Given the description of an element on the screen output the (x, y) to click on. 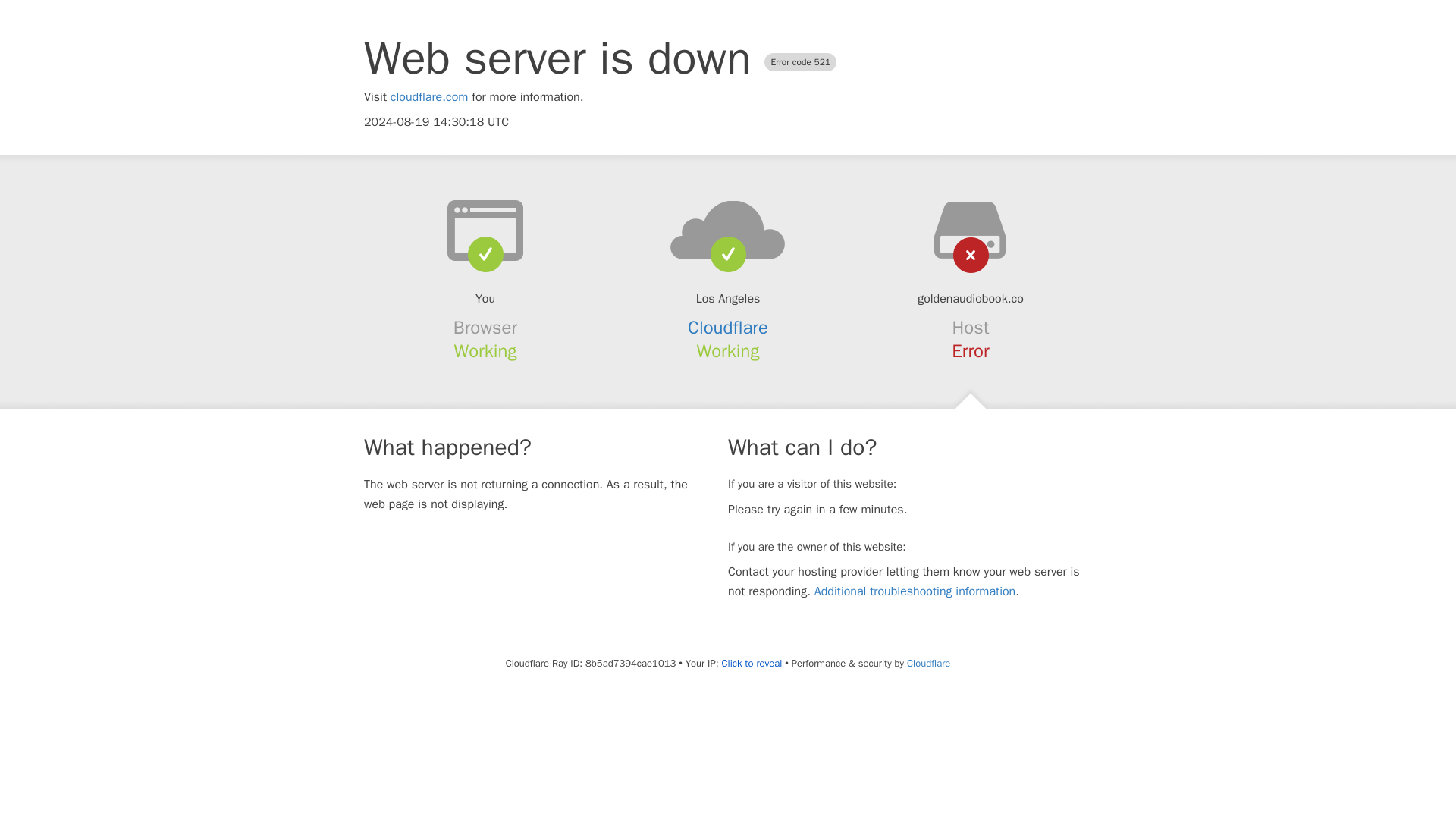
Click to reveal (750, 663)
Additional troubleshooting information (913, 590)
Cloudflare (727, 327)
Cloudflare (928, 662)
cloudflare.com (429, 96)
